Given the description of an element on the screen output the (x, y) to click on. 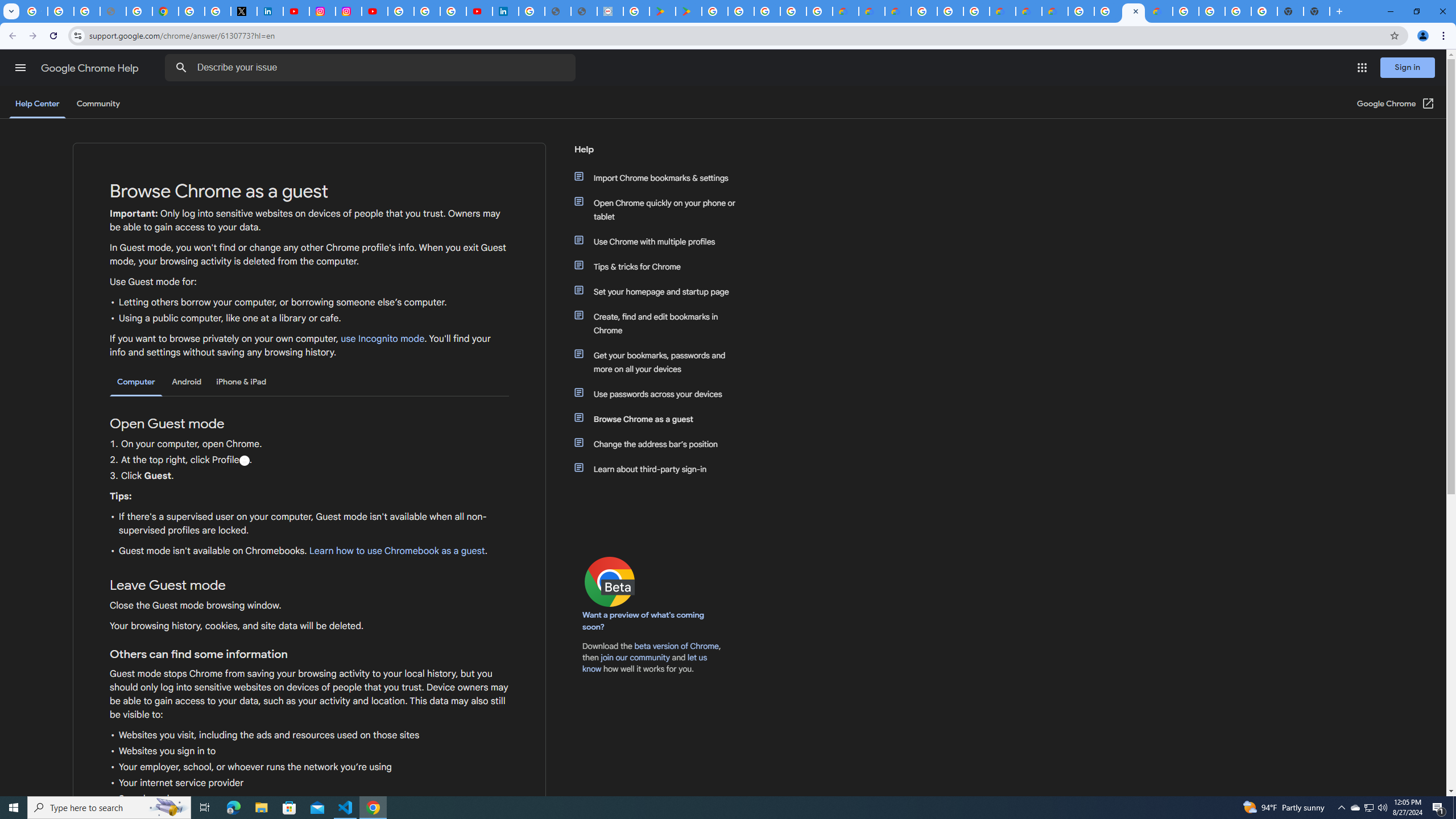
LinkedIn Privacy Policy (269, 11)
join our community (634, 657)
Search Help Center (181, 67)
Google Chrome (Open in a new window) (1395, 103)
Set your homepage and startup page (661, 291)
Google Workspace - Specific Terms (792, 11)
